Given the description of an element on the screen output the (x, y) to click on. 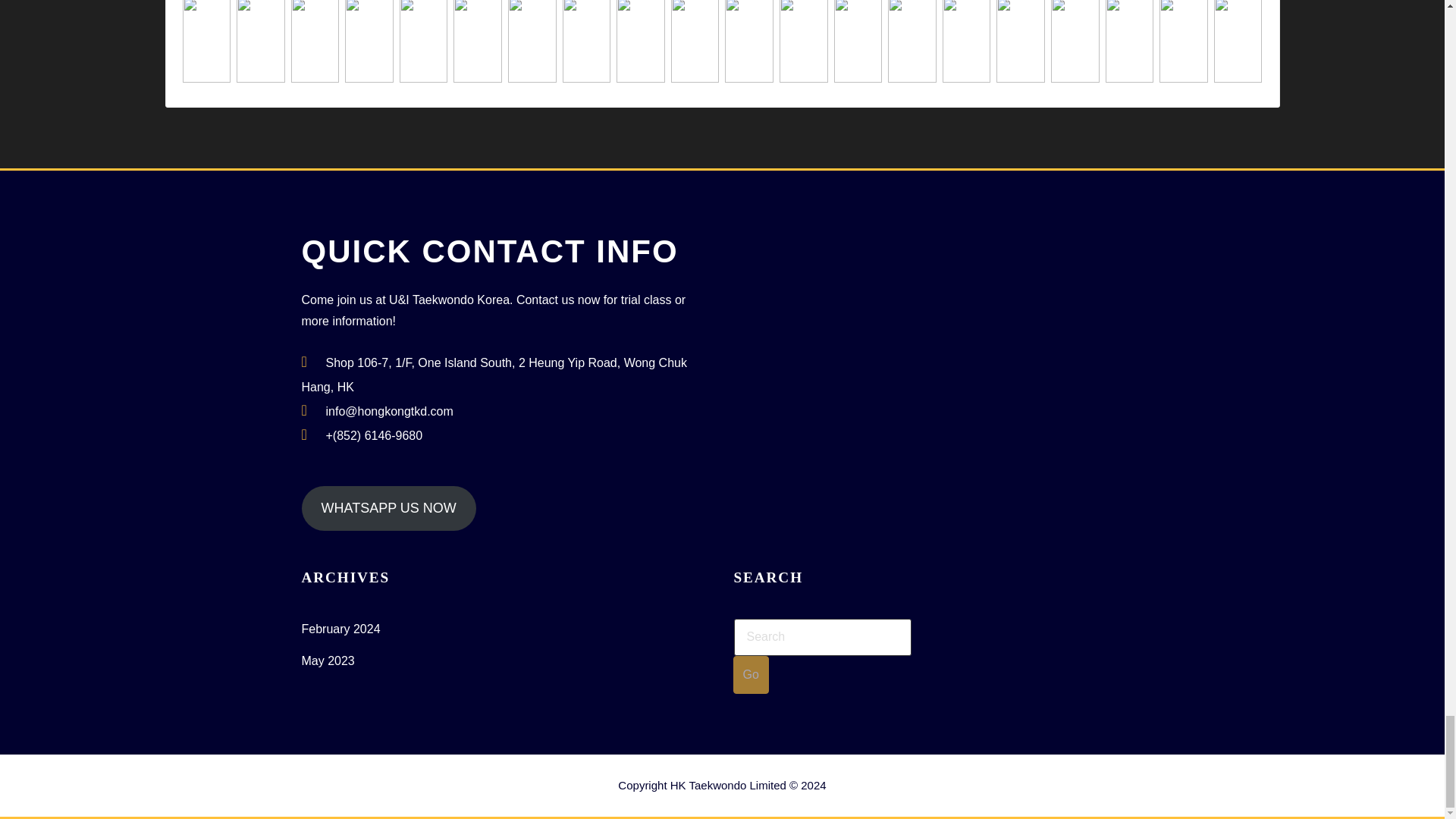
WHATSAPP US NOW (388, 508)
February 2024 (340, 628)
May 2023 (328, 660)
Go (750, 674)
